Given the description of an element on the screen output the (x, y) to click on. 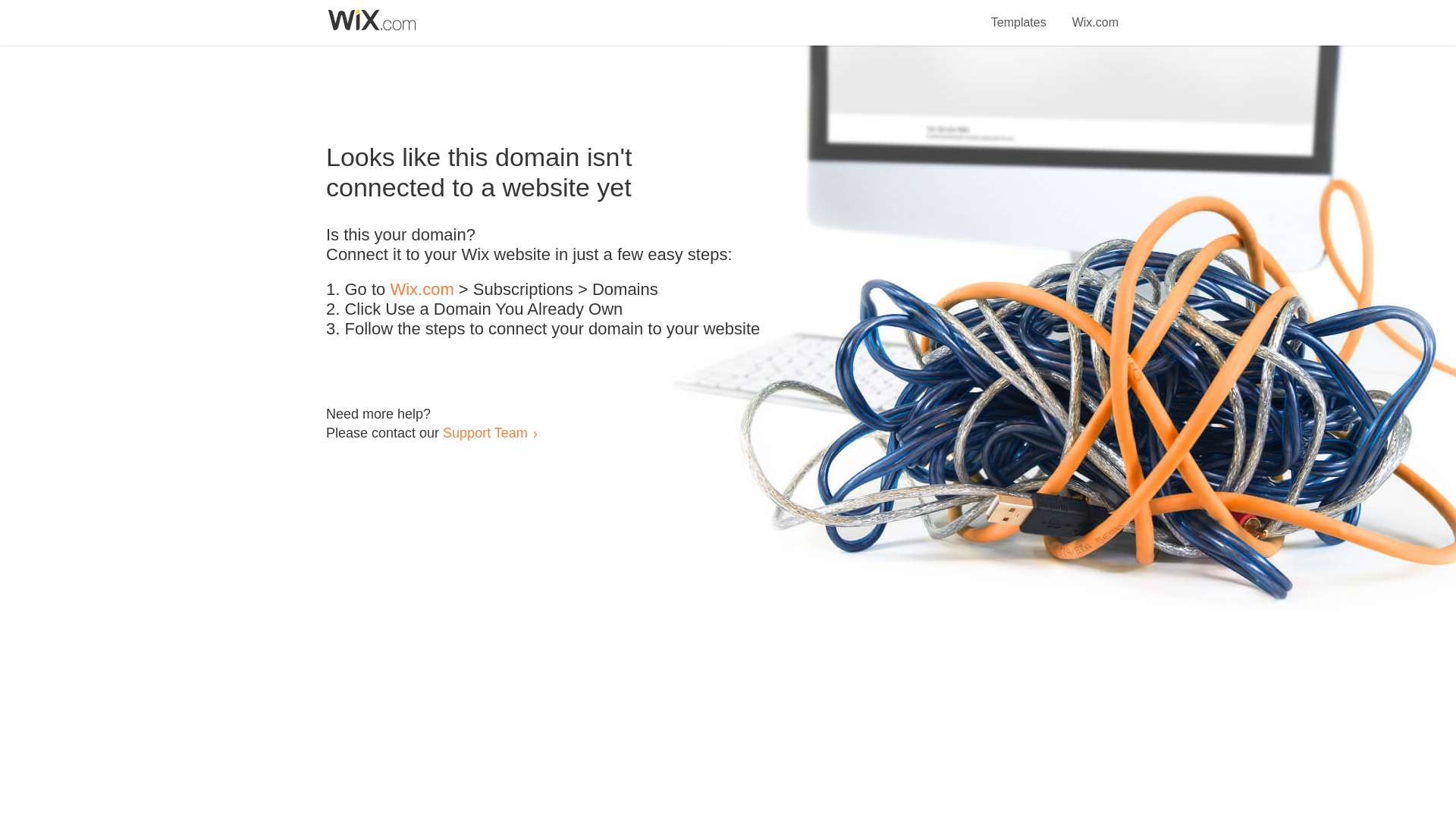
Wix.com (1095, 14)
Templates (1018, 14)
Support Team (484, 432)
Wix.com (421, 289)
